Given the description of an element on the screen output the (x, y) to click on. 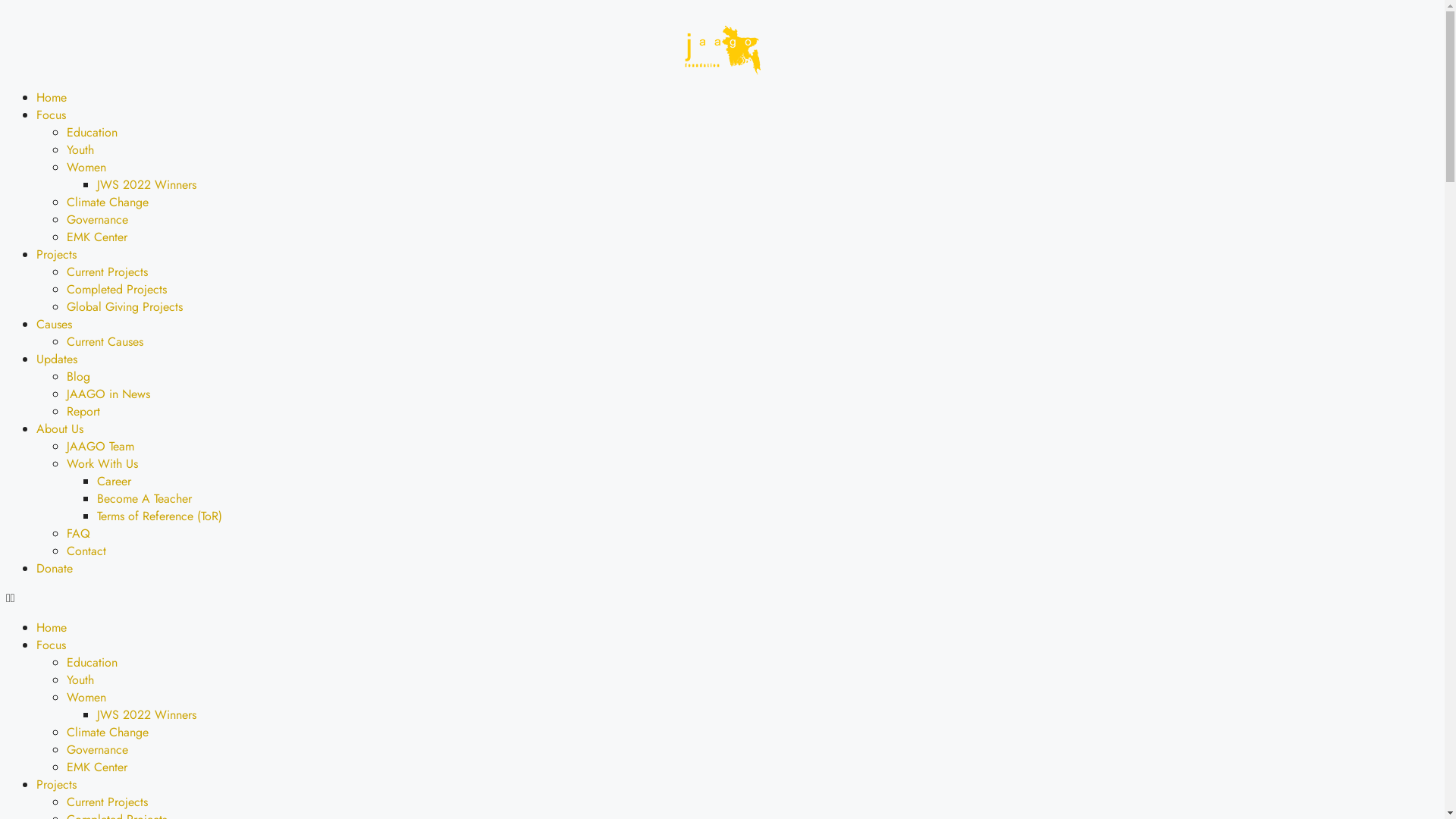
Governance Element type: text (97, 219)
FAQ Element type: text (78, 533)
Focus Element type: text (50, 114)
Work With Us Element type: text (102, 463)
Projects Element type: text (56, 784)
Youth Element type: text (80, 149)
Report Element type: text (83, 411)
Home Element type: text (51, 627)
About Us Element type: text (59, 428)
Blog Element type: text (78, 376)
Terms of Reference (ToR) Element type: text (159, 515)
Governance Element type: text (97, 749)
EMK Center Element type: text (96, 236)
Contact Element type: text (86, 550)
Career Element type: text (114, 480)
Become A Teacher Element type: text (144, 498)
Current Projects Element type: text (106, 801)
Global Giving Projects Element type: text (124, 306)
Youth Element type: text (80, 679)
Updates Element type: text (56, 358)
Completed Projects Element type: text (116, 289)
Home Element type: text (51, 97)
Donate Element type: text (54, 568)
JWS 2022 Winners Element type: text (146, 714)
Women Element type: text (86, 166)
Women Element type: text (86, 697)
Current Causes Element type: text (104, 341)
Current Projects Element type: text (106, 271)
JAAGO Team Element type: text (100, 446)
Education Element type: text (91, 662)
JAAGO in News Element type: text (108, 393)
Focus Element type: text (50, 644)
Climate Change Element type: text (107, 731)
EMK Center Element type: text (96, 766)
Education Element type: text (91, 132)
JWS 2022 Winners Element type: text (146, 184)
Climate Change Element type: text (107, 201)
Projects Element type: text (56, 254)
Causes Element type: text (54, 323)
